Given the description of an element on the screen output the (x, y) to click on. 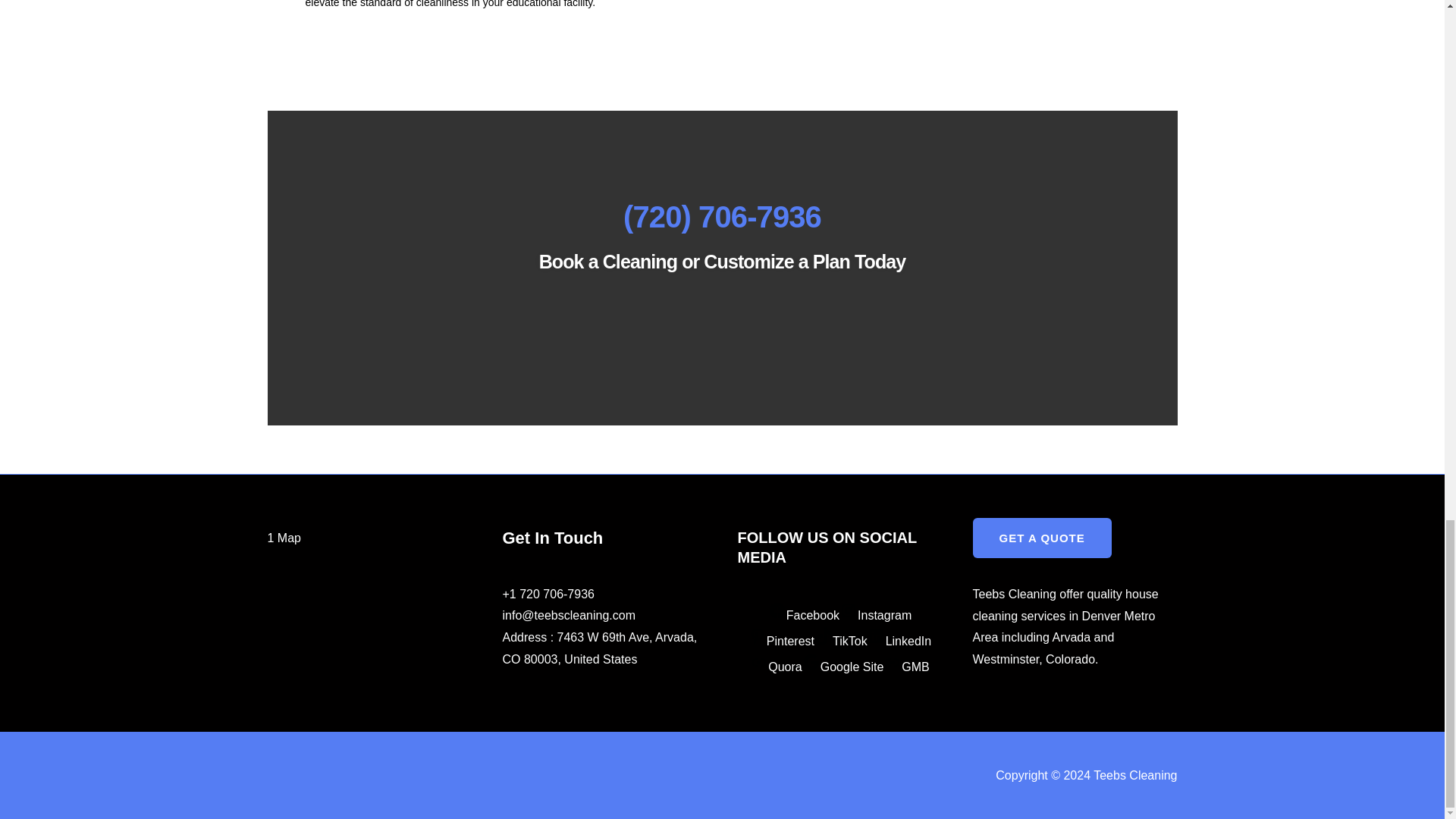
Pinterest (780, 640)
TikTok (840, 640)
Facebook (804, 615)
1 Map (282, 537)
LinkedIn (899, 640)
Instagram (875, 615)
